Given the description of an element on the screen output the (x, y) to click on. 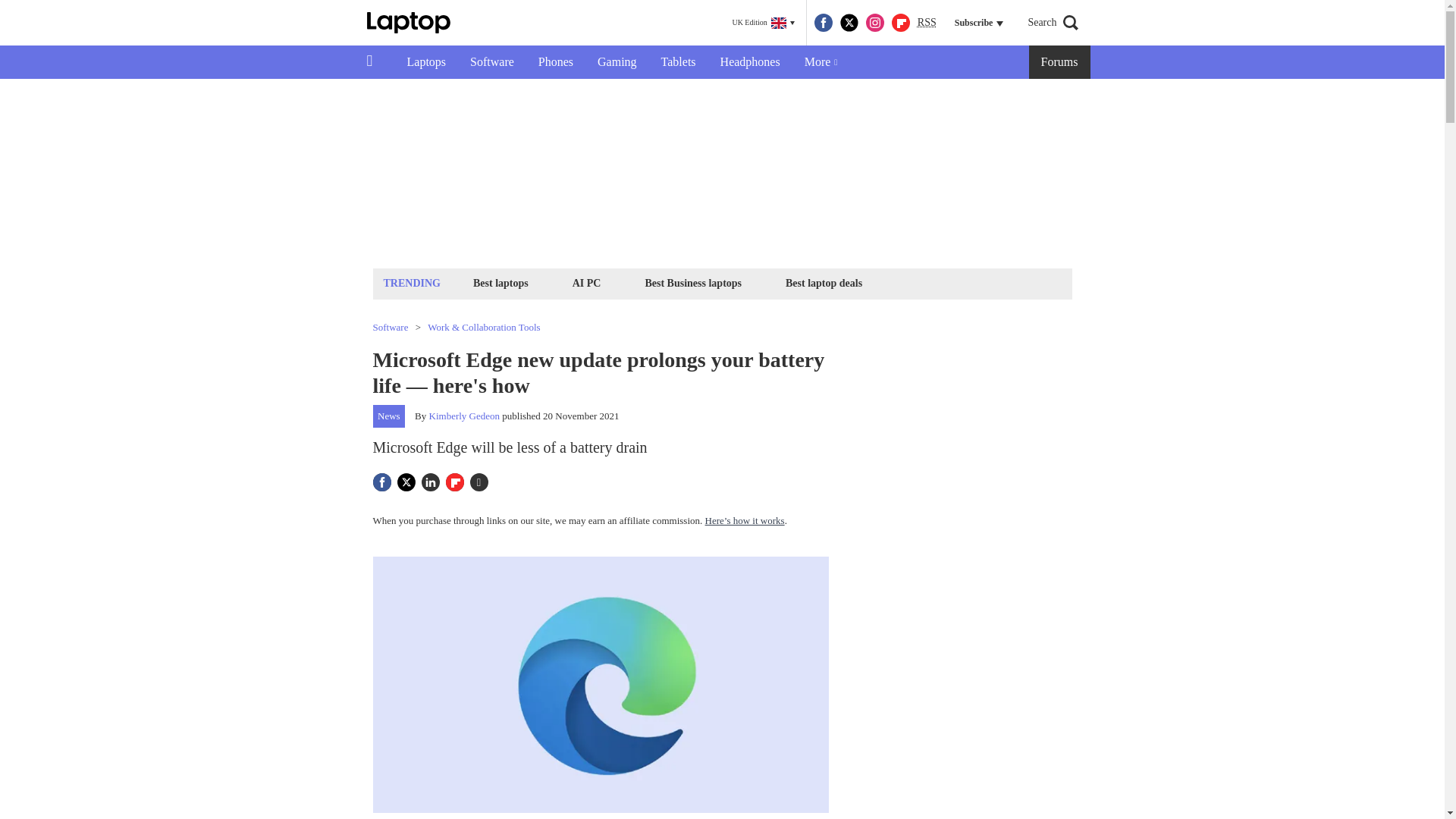
Best laptops (500, 282)
Forums (1059, 61)
Phones (555, 61)
UK Edition (762, 22)
Gaming (617, 61)
Tablets (678, 61)
Really Simple Syndication (926, 21)
Software (491, 61)
RSS (926, 22)
AI PC (587, 282)
Laptops (426, 61)
Headphones (749, 61)
Best laptop deals (823, 282)
Best Business laptops (692, 282)
